Given the description of an element on the screen output the (x, y) to click on. 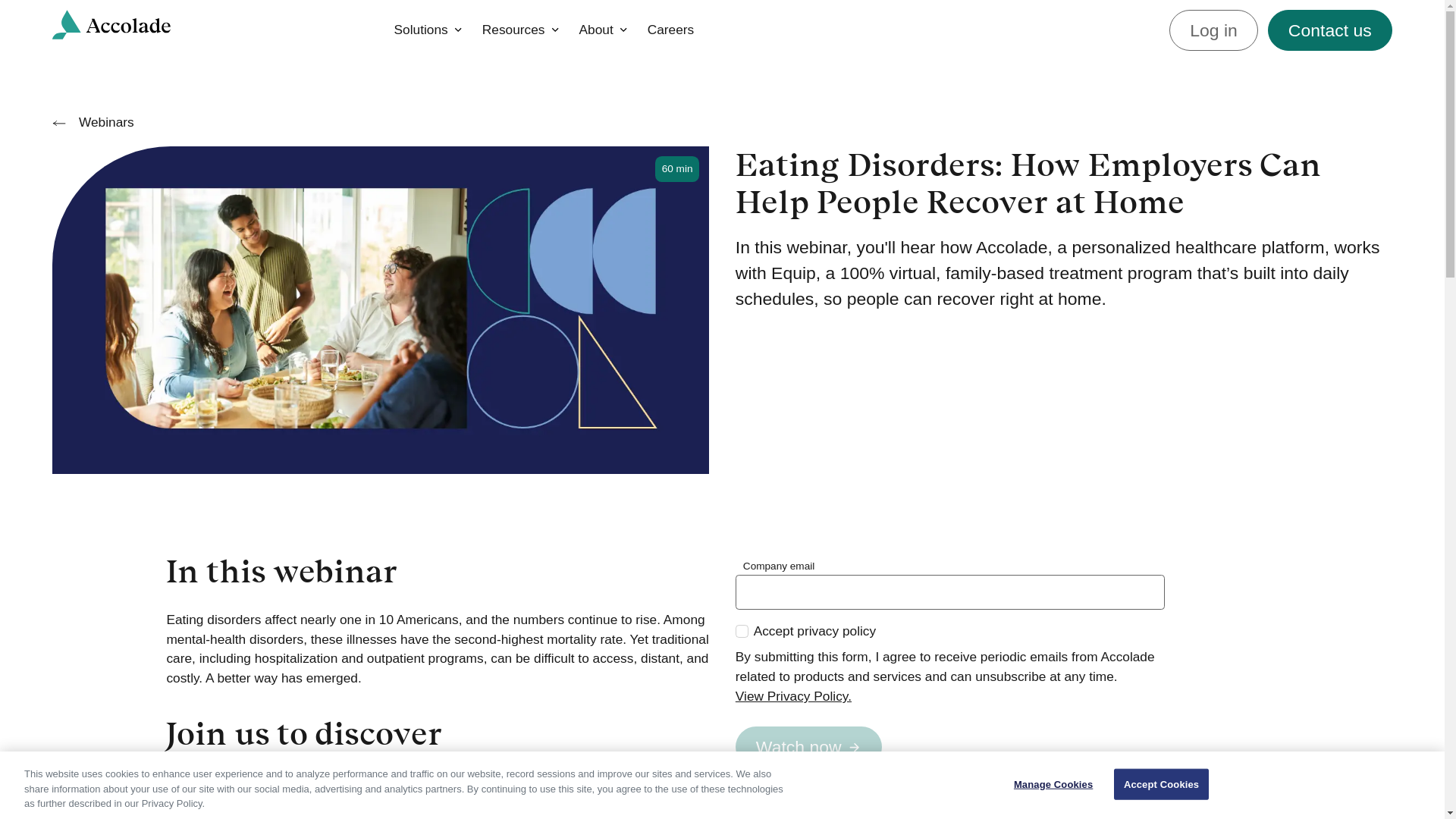
Careers (670, 29)
View Privacy Policy. (949, 696)
Contact us (1329, 29)
Log in (1213, 29)
Solutions (428, 29)
Resources (808, 746)
on (520, 29)
About (741, 631)
Webinars (602, 29)
